Given the description of an element on the screen output the (x, y) to click on. 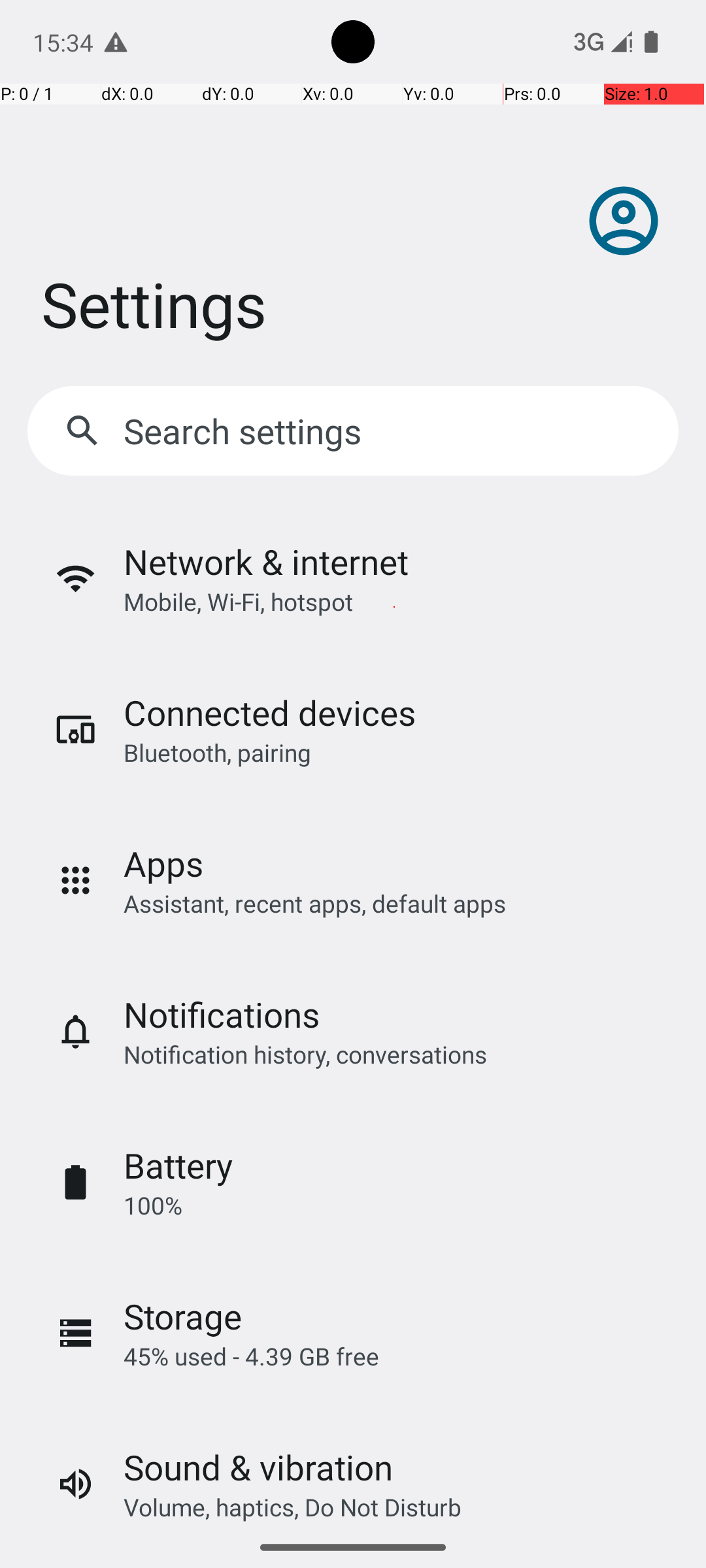
Profile picture, double tap to open Google Account Element type: android.widget.ImageView (623, 220)
Search settings Element type: android.widget.TextView (245, 430)
Network & internet Element type: android.widget.TextView (265, 561)
Mobile, Wi‑Fi, hotspot Element type: android.widget.TextView (238, 601)
Connected devices Element type: android.widget.TextView (269, 712)
Bluetooth, pairing Element type: android.widget.TextView (217, 751)
Assistant, recent apps, default apps Element type: android.widget.TextView (314, 902)
Notification history, conversations Element type: android.widget.TextView (305, 1053)
Battery Element type: android.widget.TextView (178, 1165)
100% Element type: android.widget.TextView (152, 1204)
Storage Element type: android.widget.TextView (182, 1315)
45% used - 4.39 GB free Element type: android.widget.TextView (251, 1355)
Sound & vibration Element type: android.widget.TextView (257, 1466)
Volume, haptics, Do Not Disturb Element type: android.widget.TextView (292, 1506)
